Given the description of an element on the screen output the (x, y) to click on. 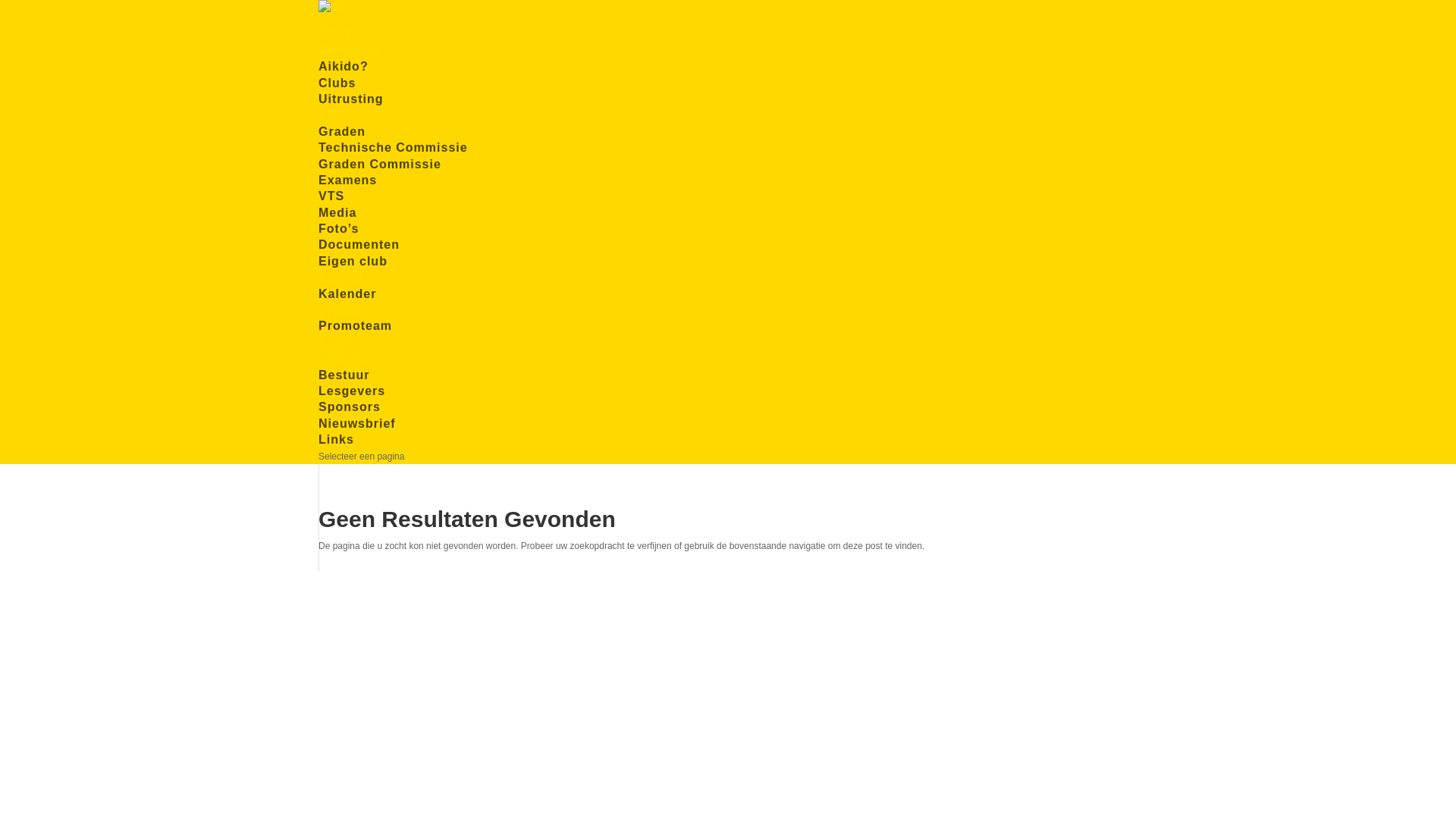
Graden Element type: text (341, 131)
Contact Element type: text (343, 363)
Shop Element type: text (334, 347)
Uitrusting Element type: text (350, 98)
Examens Element type: text (347, 179)
Stages Element type: text (340, 282)
Clubs Element type: text (336, 82)
Promo Element type: text (339, 315)
Documenten Element type: text (358, 244)
Promoteam Element type: text (355, 325)
Lesgevers Element type: text (351, 390)
Start Element type: text (333, 39)
Eigen club Element type: text (352, 260)
Wanna do Element type: text (350, 55)
Nieuwsbrief Element type: text (356, 423)
VTS Element type: text (331, 195)
Kalender Element type: text (347, 293)
I DO Element type: text (332, 120)
Graden Commissie Element type: text (379, 163)
Technische Commissie Element type: text (392, 147)
Aikido? Element type: text (343, 65)
Media Element type: text (337, 212)
Links Element type: text (336, 439)
Bestuur Element type: text (343, 374)
Sponsors Element type: text (349, 406)
